Given the description of an element on the screen output the (x, y) to click on. 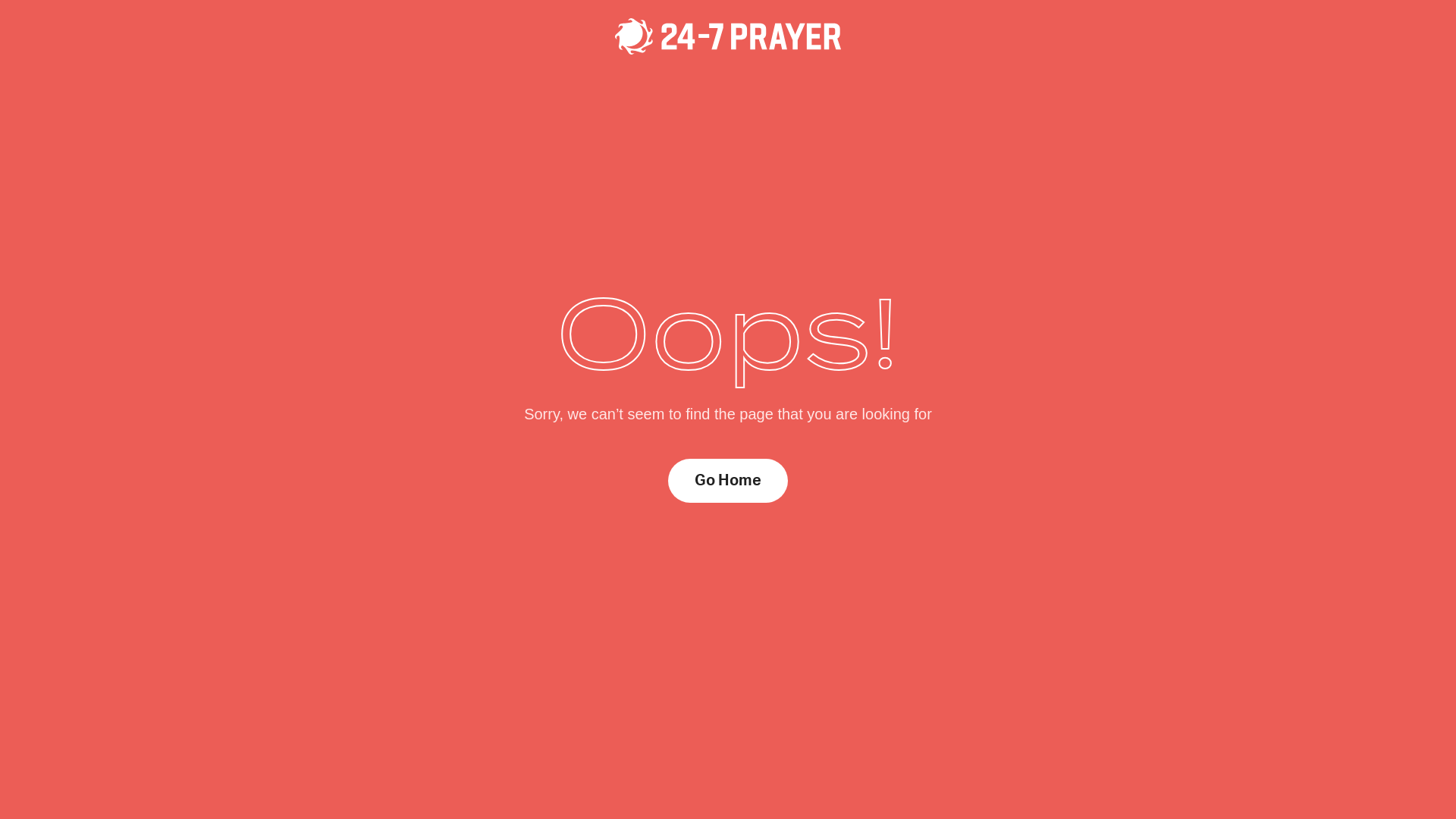
Go Home Element type: text (727, 480)
